Given the description of an element on the screen output the (x, y) to click on. 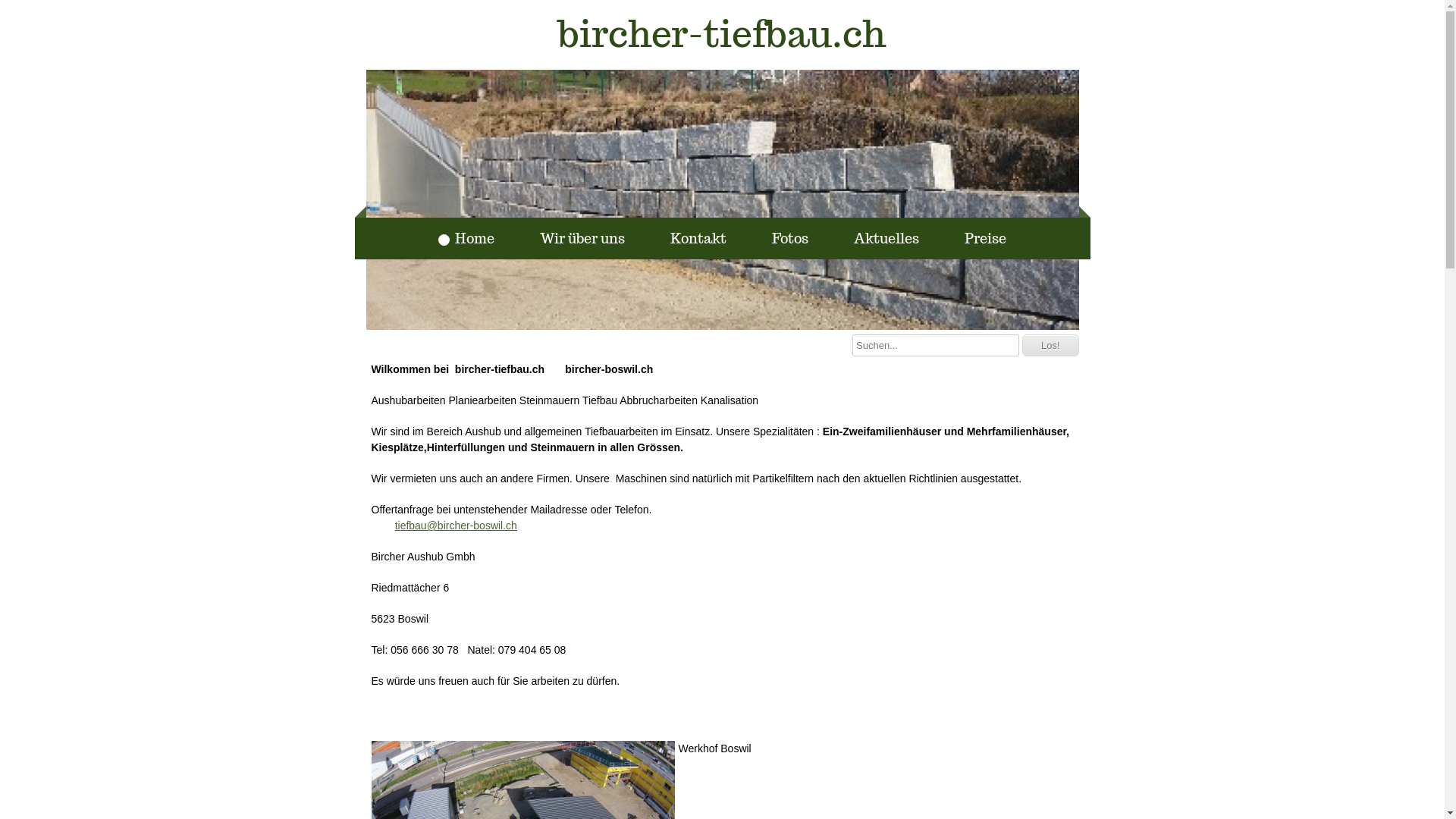
tiefbau@bircher-boswil.ch Element type: text (456, 525)
Fotos Element type: text (781, 237)
Home Element type: text (466, 237)
Preise Element type: text (976, 237)
Aktuelles Element type: text (877, 237)
Kontakt Element type: text (690, 237)
bircher-tiefbau.ch Element type: text (721, 34)
Los! Element type: text (1050, 345)
